Given the description of an element on the screen output the (x, y) to click on. 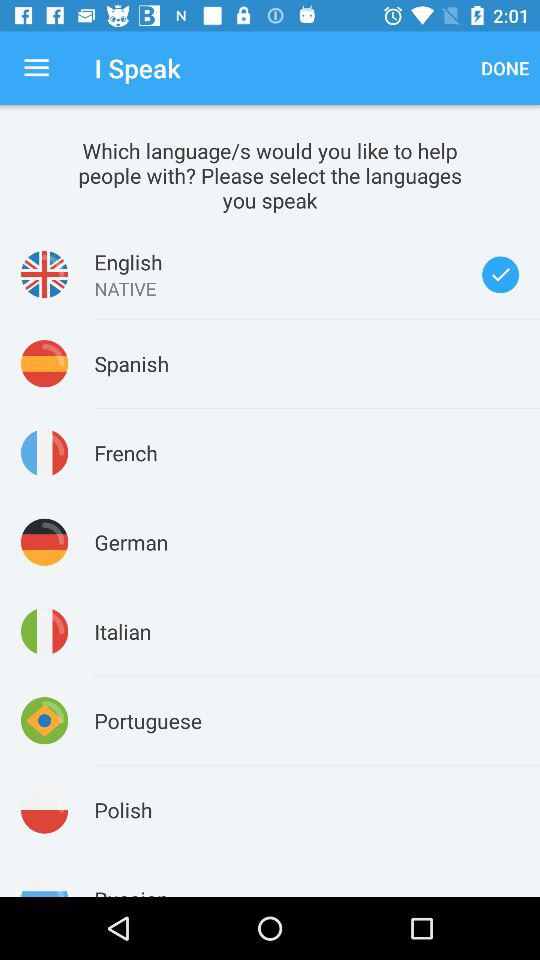
select item above which language s (36, 68)
